Given the description of an element on the screen output the (x, y) to click on. 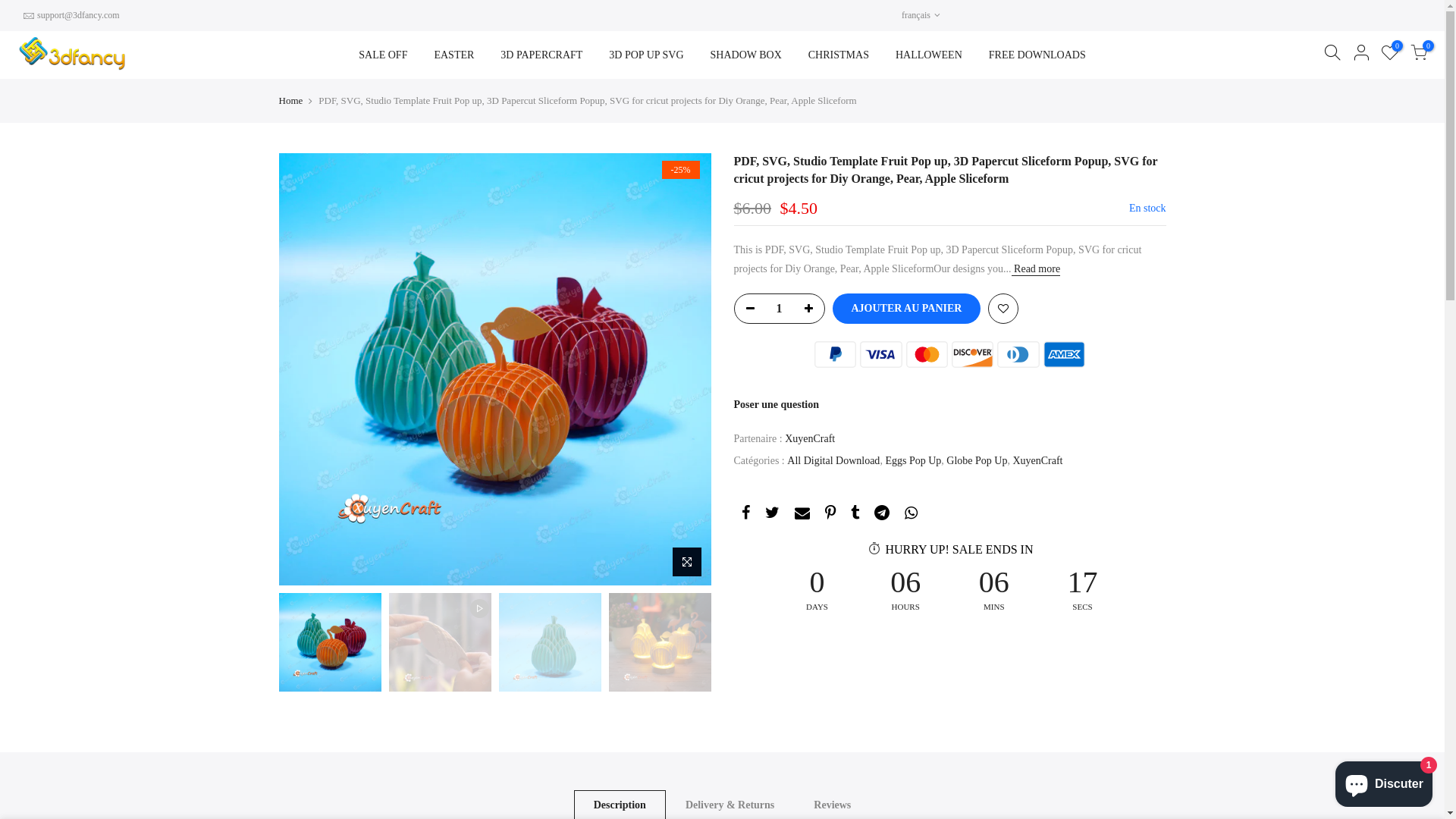
ABOUT 3DFANCY Element type: text (701, 621)
Home Element type: text (291, 100)
Home Element type: text (519, 621)
3D Popup SVG Element type: text (842, 647)
Contact Element type: text (522, 647)
Search Element type: text (1150, 795)
Poser une question Element type: text (776, 404)
Chat de la boutique en ligne Shopify Element type: hover (1383, 780)
0 Element type: text (1389, 54)
AJOUTER AU PANIER Element type: text (906, 308)
Read more Element type: text (1035, 269)
XuyenCraft Element type: text (809, 438)
Soumettre Element type: text (1125, 677)
CHRISTMAS Element type: text (837, 54)
XuyenCraft Element type: text (1037, 460)
HALLOWEEN Element type: text (928, 54)
3D Papercraft Element type: text (839, 621)
support@3dfancy.com Element type: text (362, 669)
FREE DOWNLOADS Element type: text (1036, 54)
All Digital Download Element type: text (833, 460)
3D PAPERCRAFT Element type: text (541, 54)
EASTER Element type: text (453, 54)
SALE OFF Element type: text (382, 54)
3D POP UP SVG Element type: text (646, 54)
Delivery & Returns Element type: text (699, 647)
SHADOW BOX Element type: text (745, 54)
0 Element type: text (1418, 54)
Eggs Pop Up Element type: text (912, 460)
support@3dfancy.com Element type: text (78, 14)
Globe Pop Up Element type: text (976, 460)
